Given the description of an element on the screen output the (x, y) to click on. 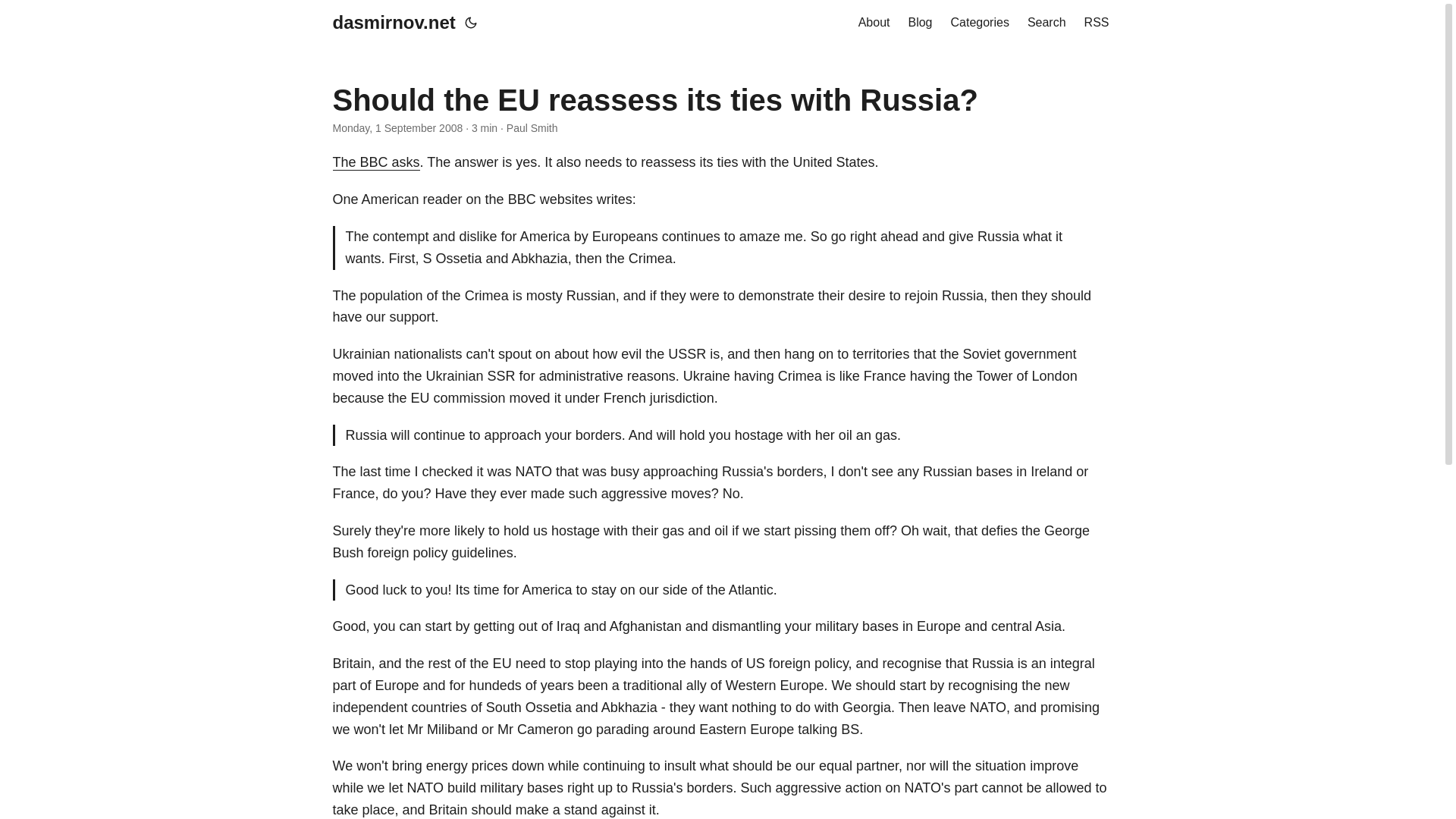
Categories (979, 22)
The BBC asks (375, 161)
Categories (979, 22)
dasmirnov.net (392, 22)
